Given the description of an element on the screen output the (x, y) to click on. 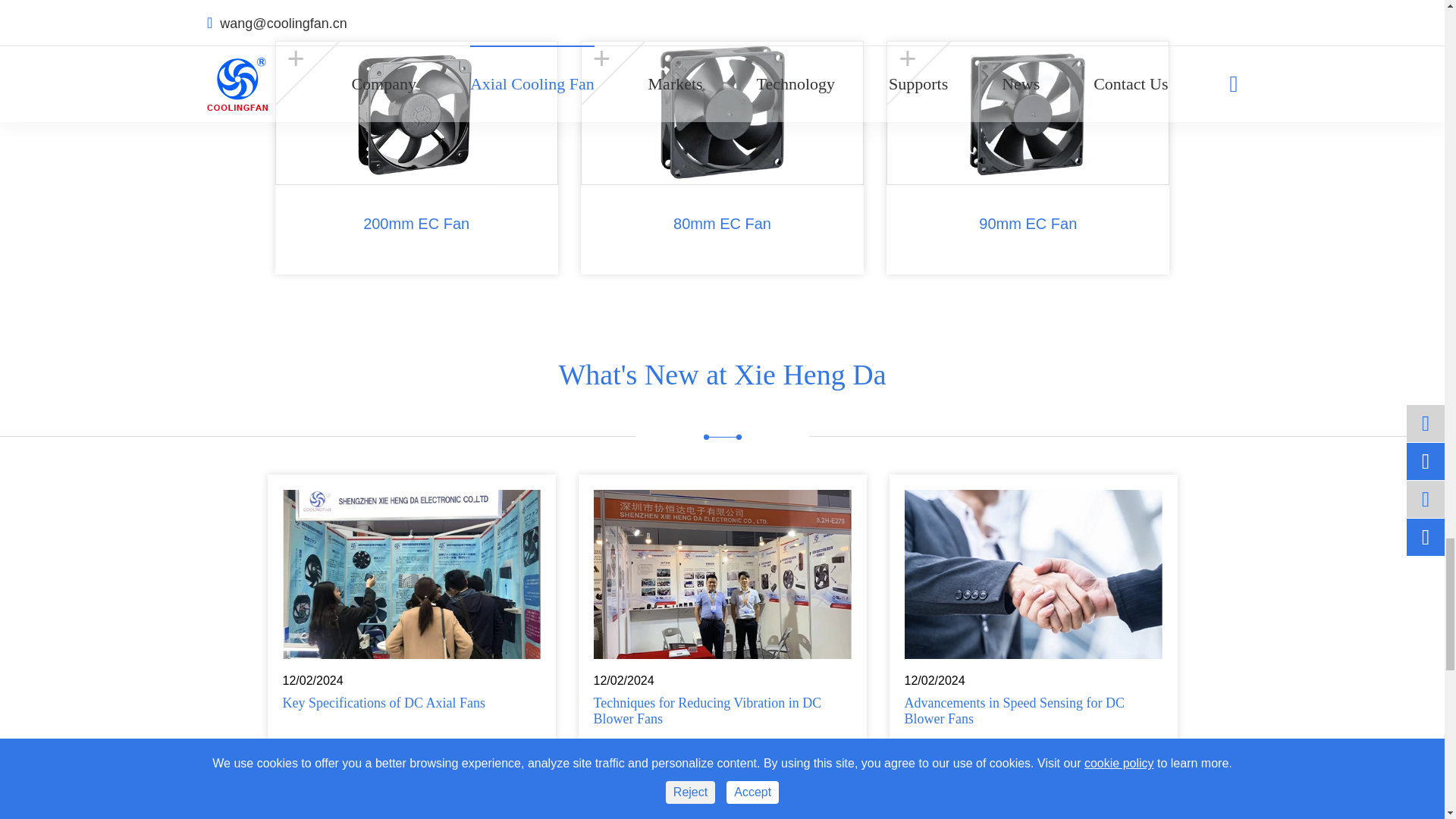
200mm EC Fan (416, 112)
80mm EC Fan (721, 112)
90mm EC Fan (1027, 112)
